Given the description of an element on the screen output the (x, y) to click on. 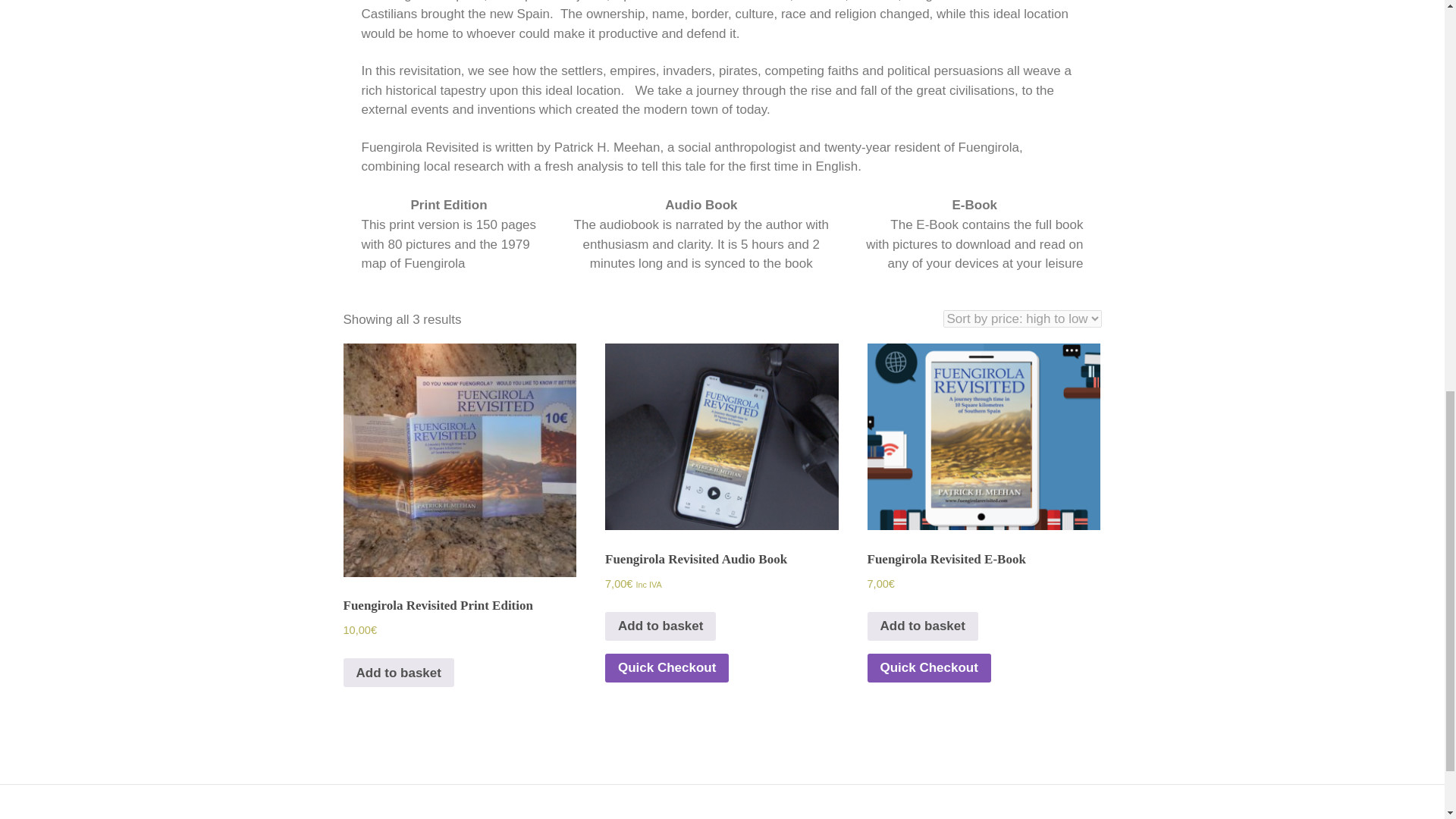
Add to basket (397, 672)
Quick Checkout (667, 667)
Quick Checkout (929, 667)
Add to basket (922, 625)
Add to basket (660, 625)
